Given the description of an element on the screen output the (x, y) to click on. 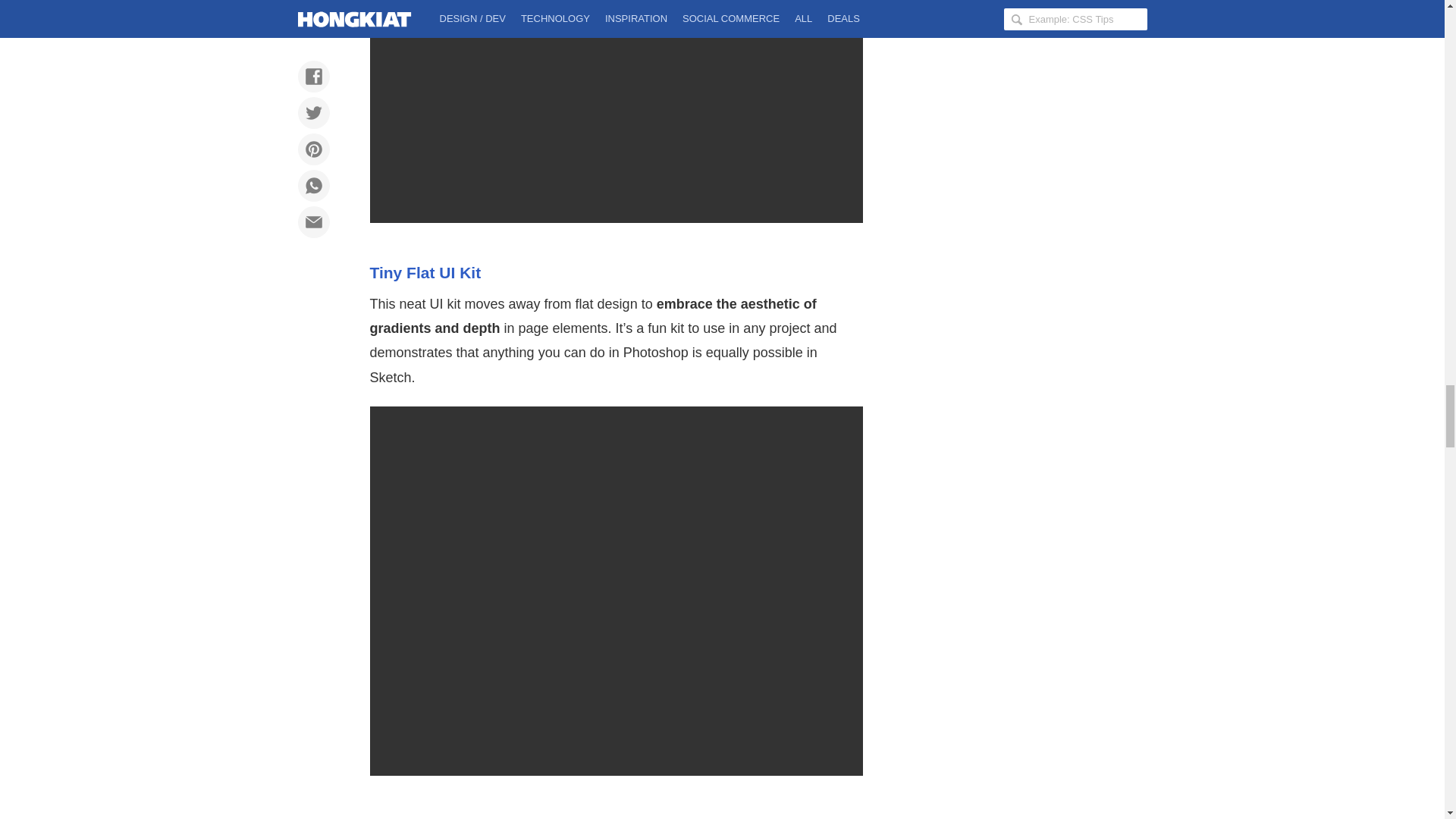
Tiny Flat UI Kit (425, 272)
